Given the description of an element on the screen output the (x, y) to click on. 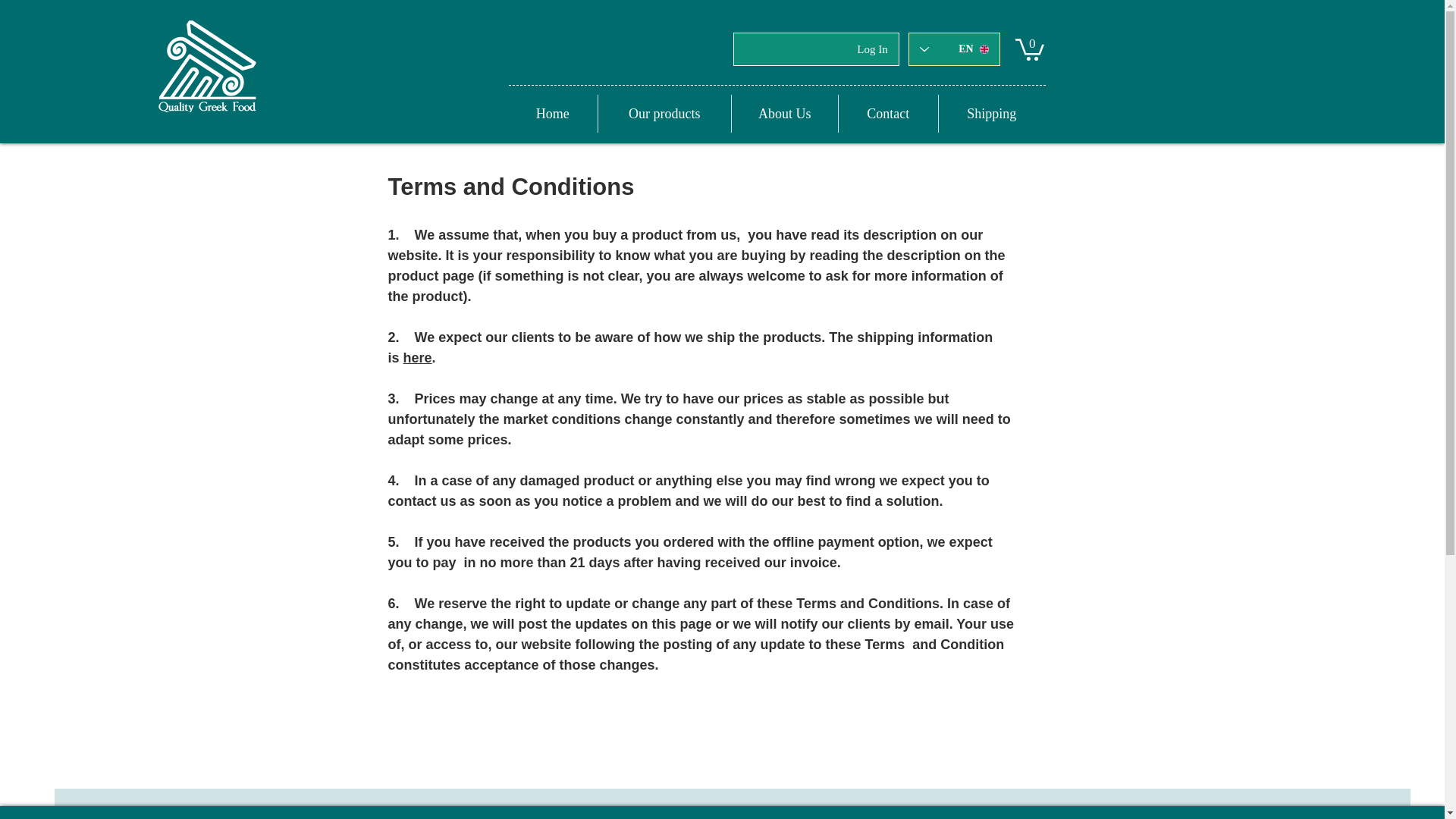
Shipping (992, 113)
0 (1028, 48)
Log In (871, 48)
Contact (887, 113)
Home (552, 113)
here (417, 357)
0 (1028, 48)
About Us (785, 113)
